Given the description of an element on the screen output the (x, y) to click on. 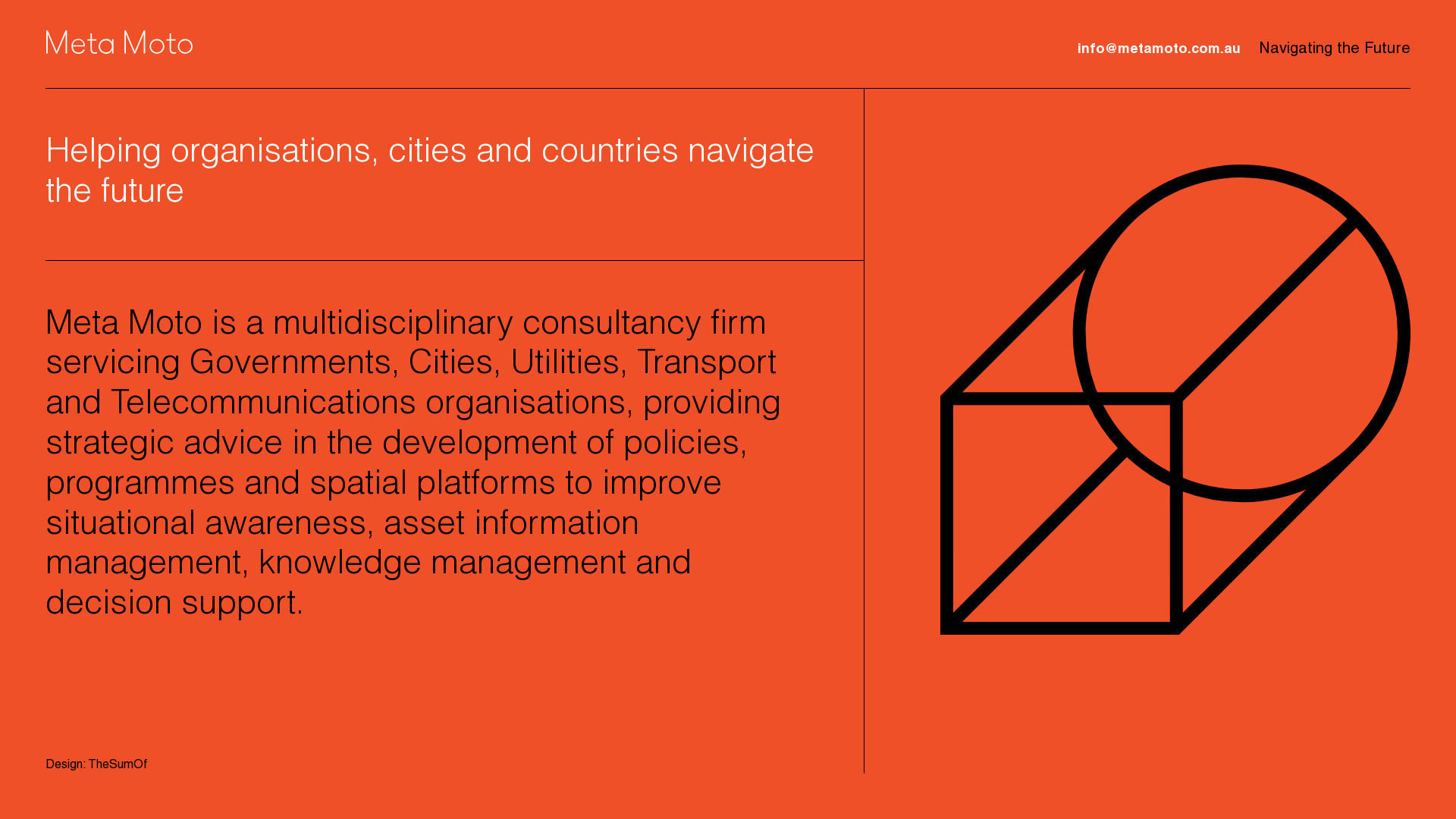
info@metamoto.com.au Element type: text (1158, 49)
